Given the description of an element on the screen output the (x, y) to click on. 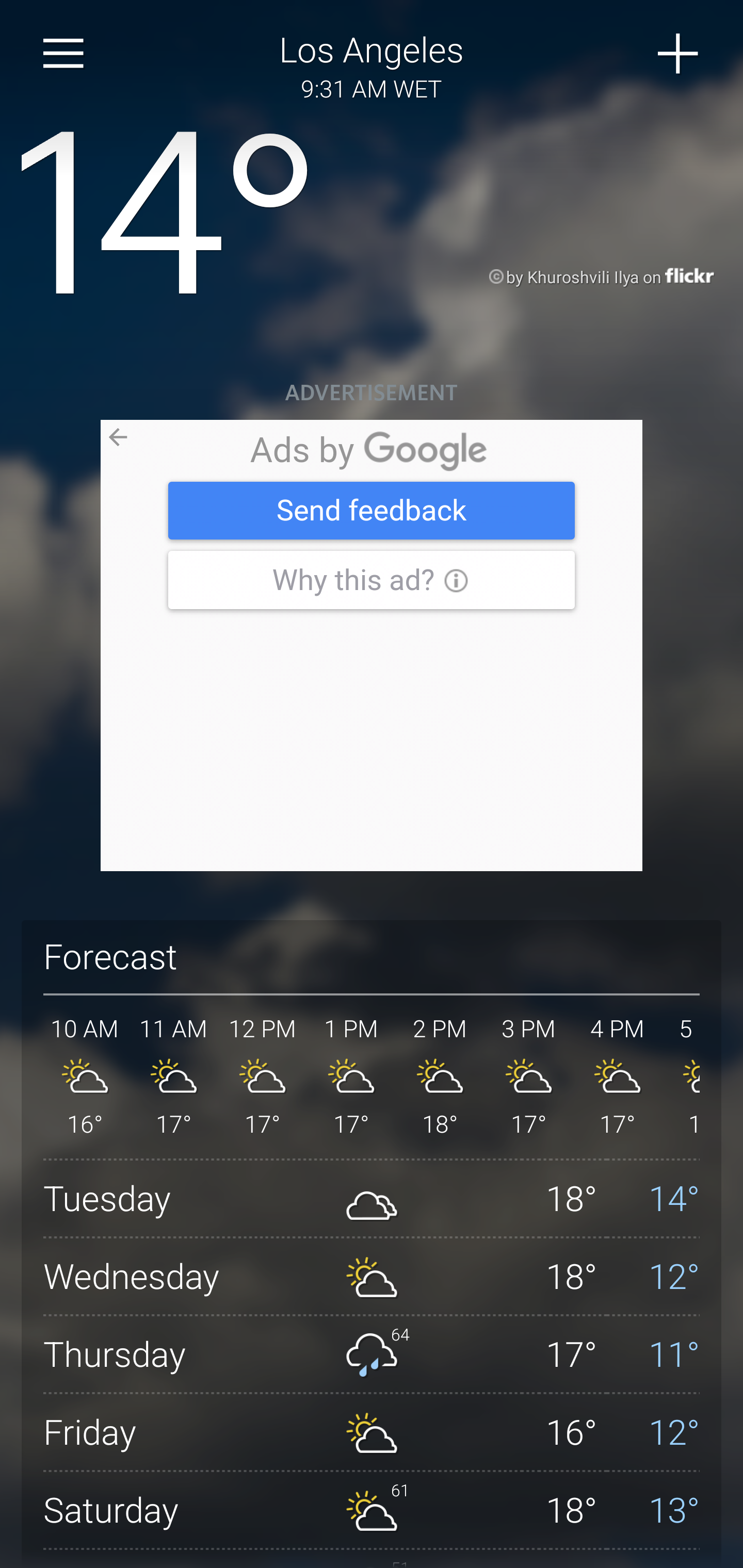
Sidebar (64, 54)
Add City (678, 53)
Advertisement (371, 645)
